Given the description of an element on the screen output the (x, y) to click on. 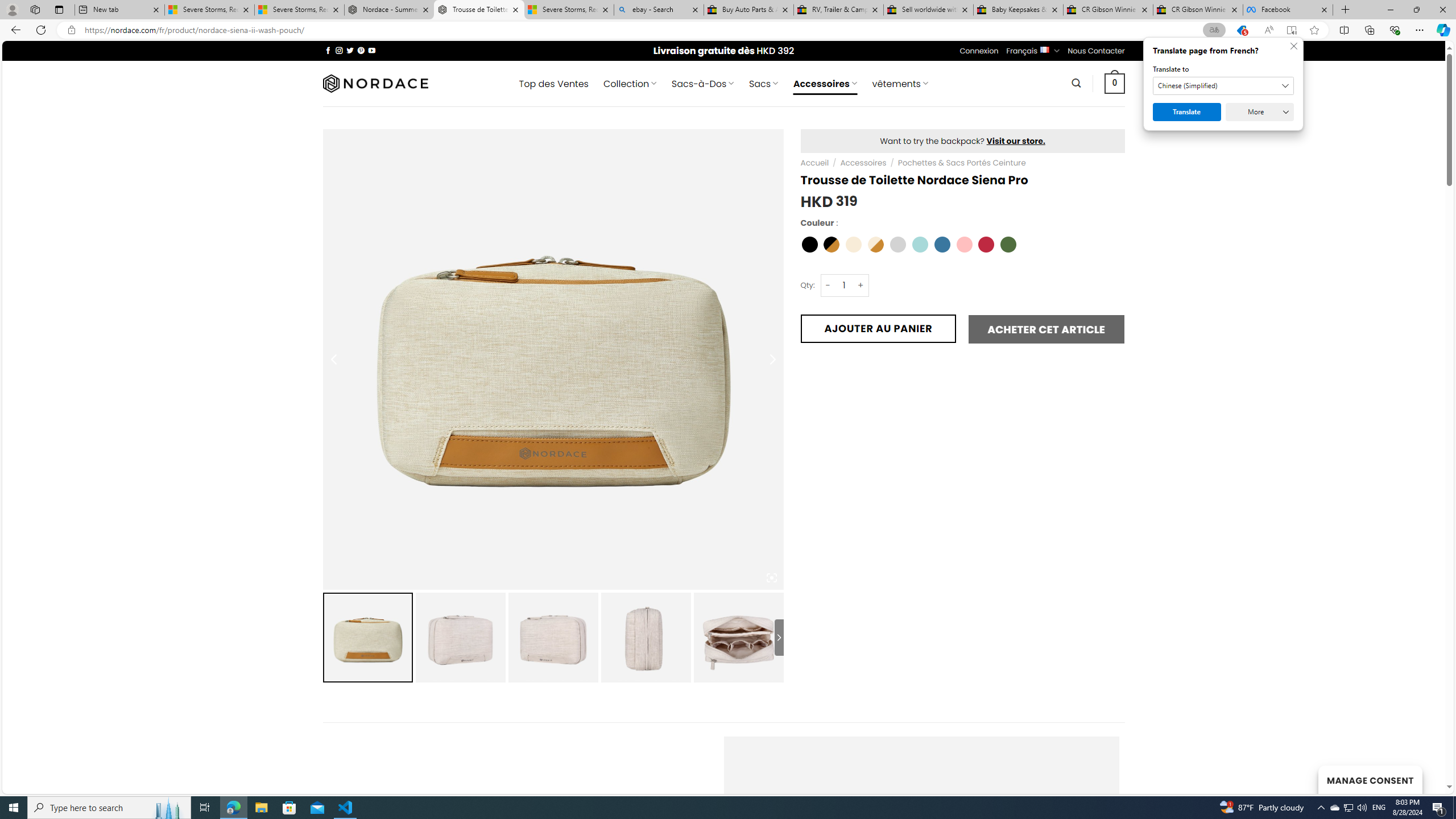
Connexion (978, 50)
More (1259, 112)
- (827, 284)
 Top des Ventes (553, 83)
Connexion (978, 50)
